Given the description of an element on the screen output the (x, y) to click on. 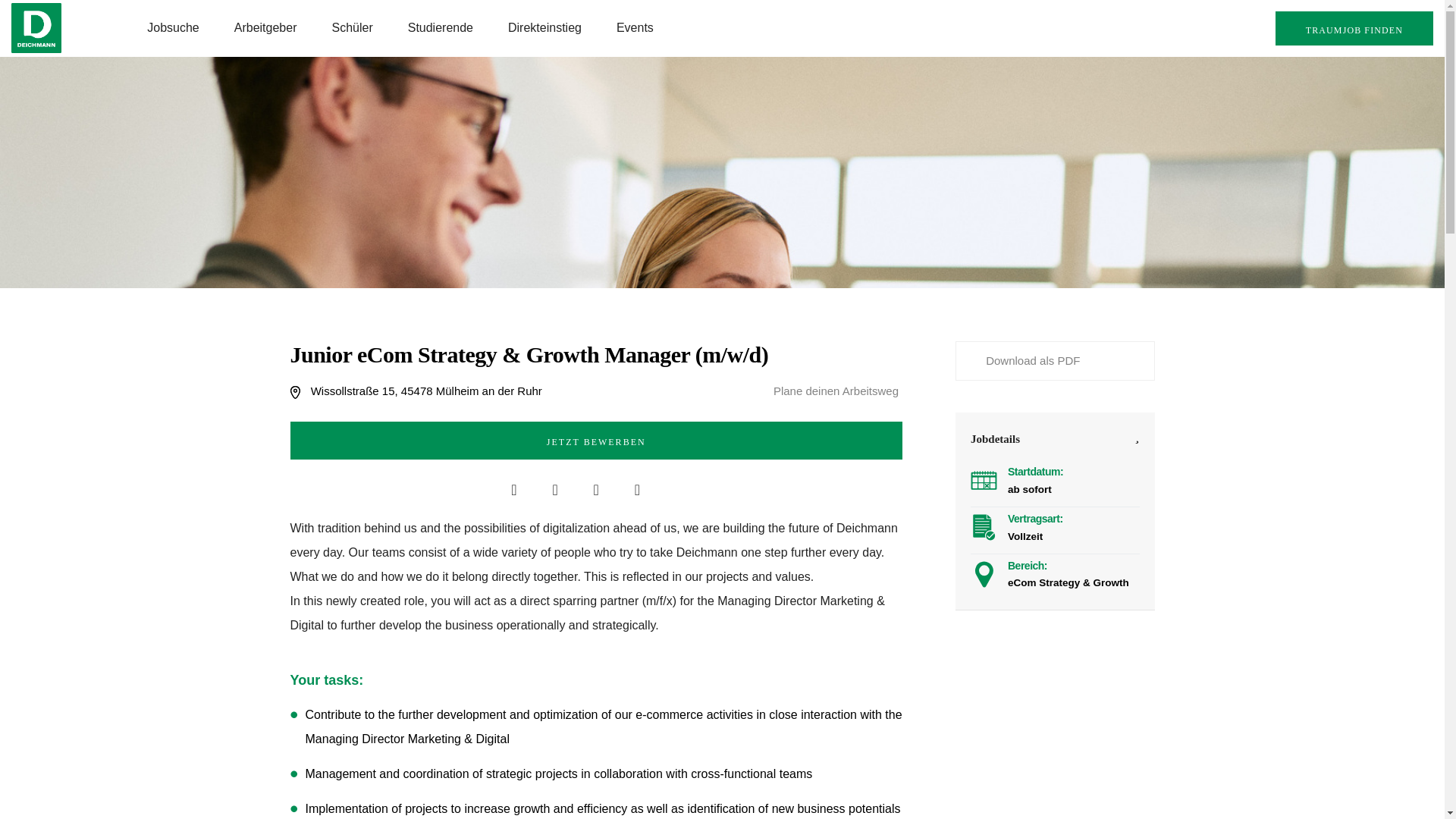
Arbeitgeber (265, 27)
Jobsuche (173, 27)
Download als PDF (1021, 359)
Direkteinstieg (544, 27)
TRAUMJOB FINDEN (1353, 28)
JETZT BEWERBEN (595, 440)
Studierende (441, 27)
Events (635, 27)
Plane deinen Arbeitsweg (837, 391)
